Given the description of an element on the screen output the (x, y) to click on. 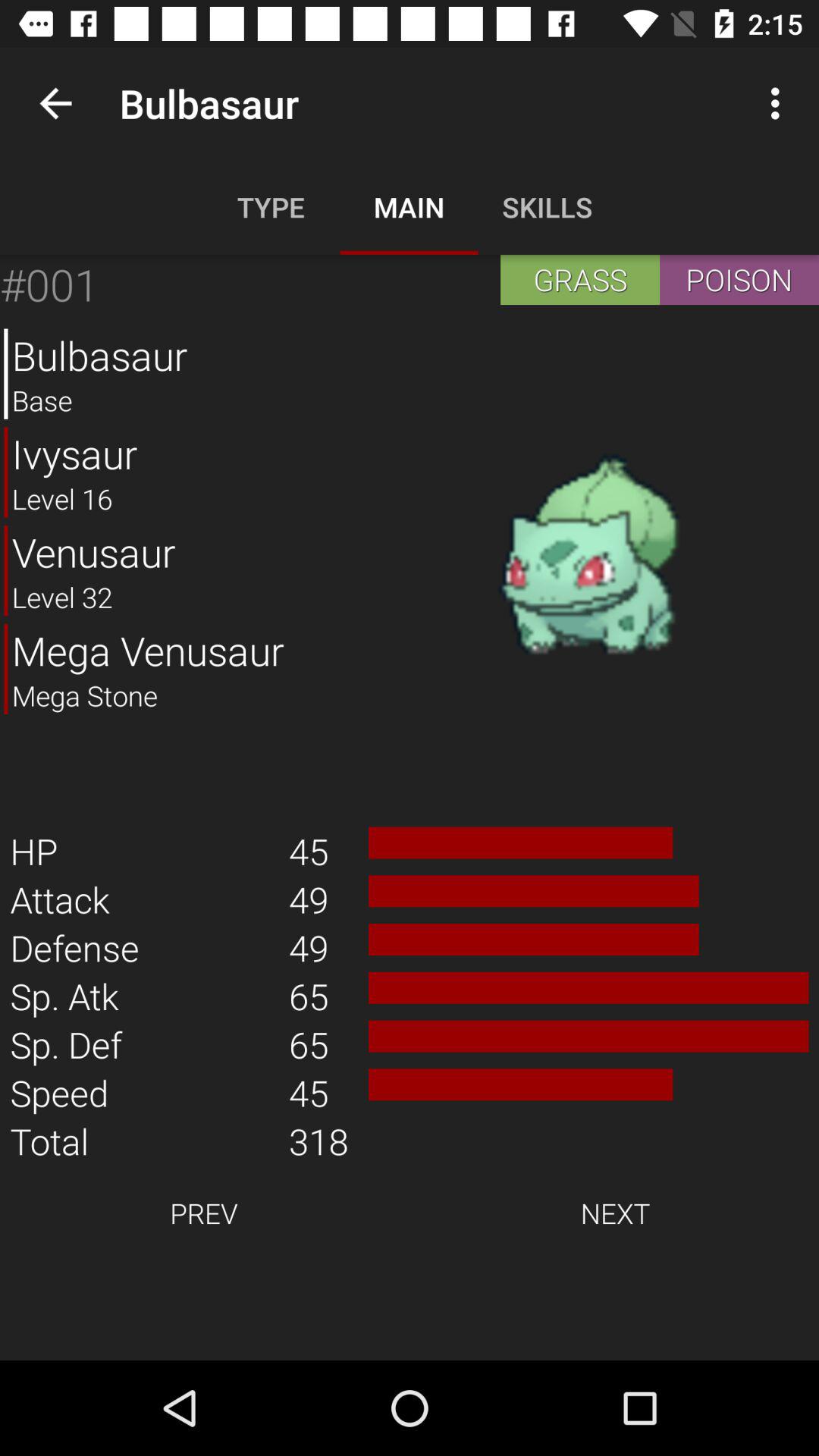
flip until the prev (203, 1212)
